Given the description of an element on the screen output the (x, y) to click on. 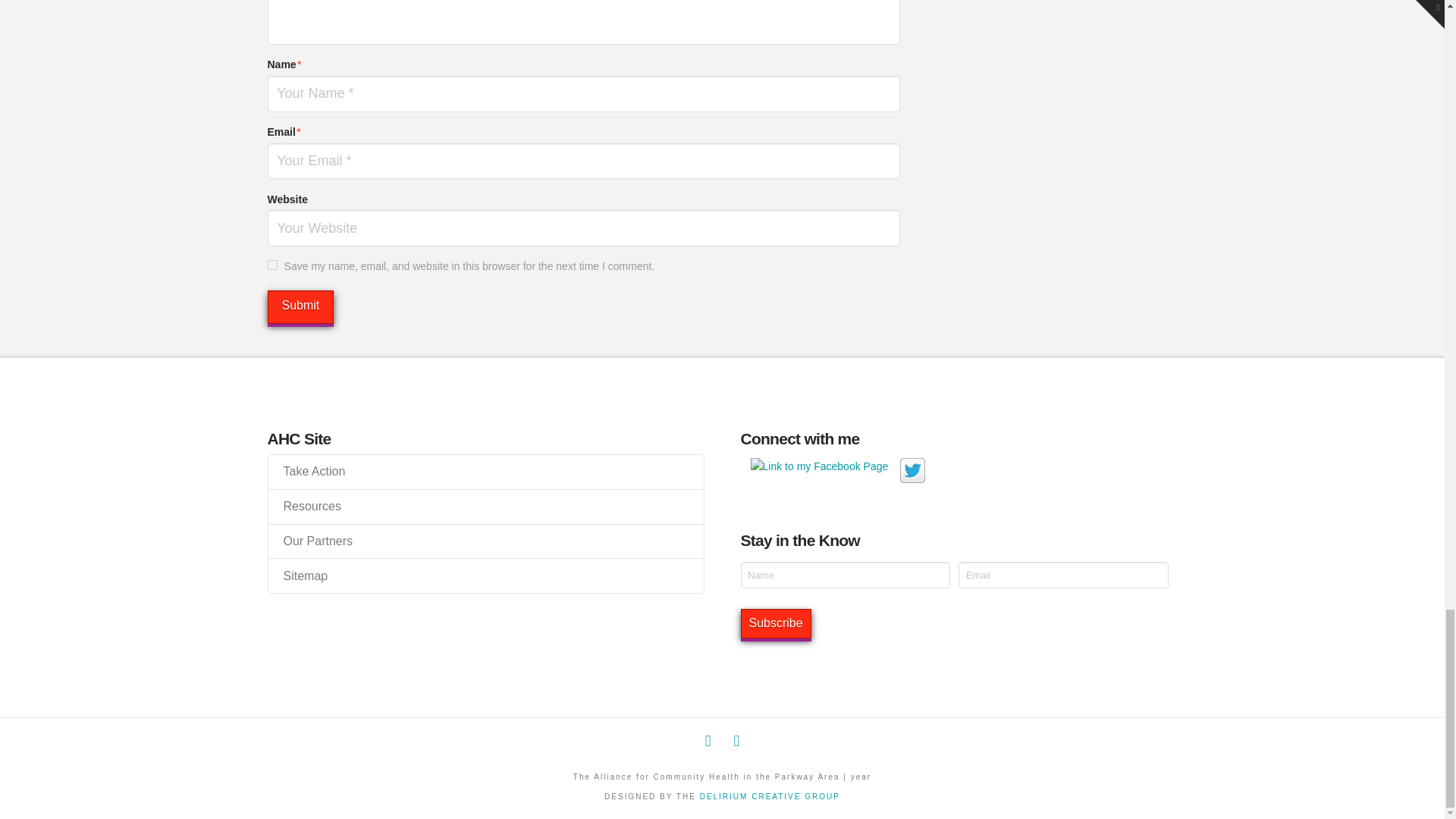
Link to my Facebook Page (819, 466)
yes (271, 265)
Link to my Twitter Page (911, 470)
Submit (299, 307)
